Given the description of an element on the screen output the (x, y) to click on. 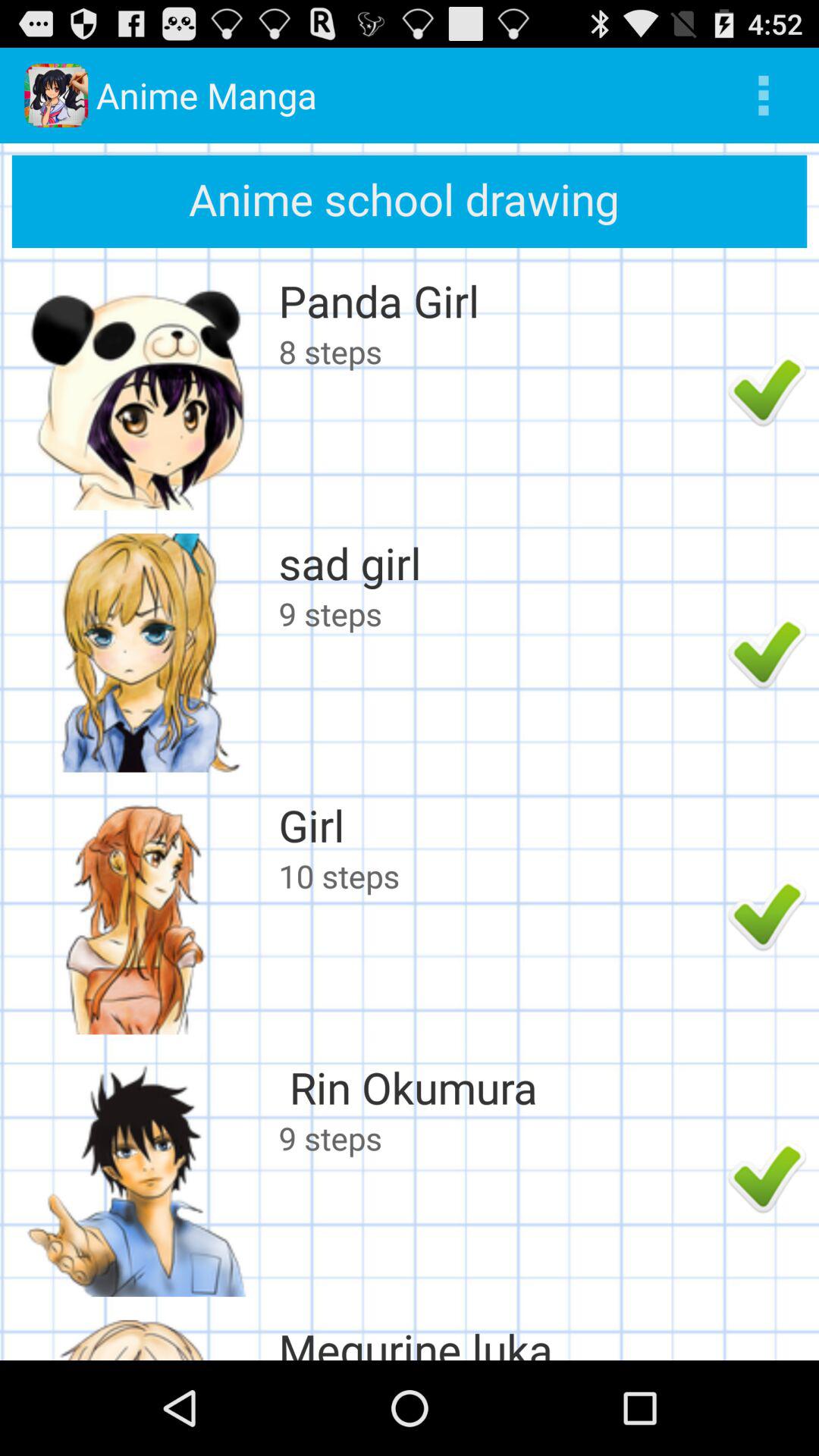
turn on the app next to anime manga icon (763, 95)
